Given the description of an element on the screen output the (x, y) to click on. 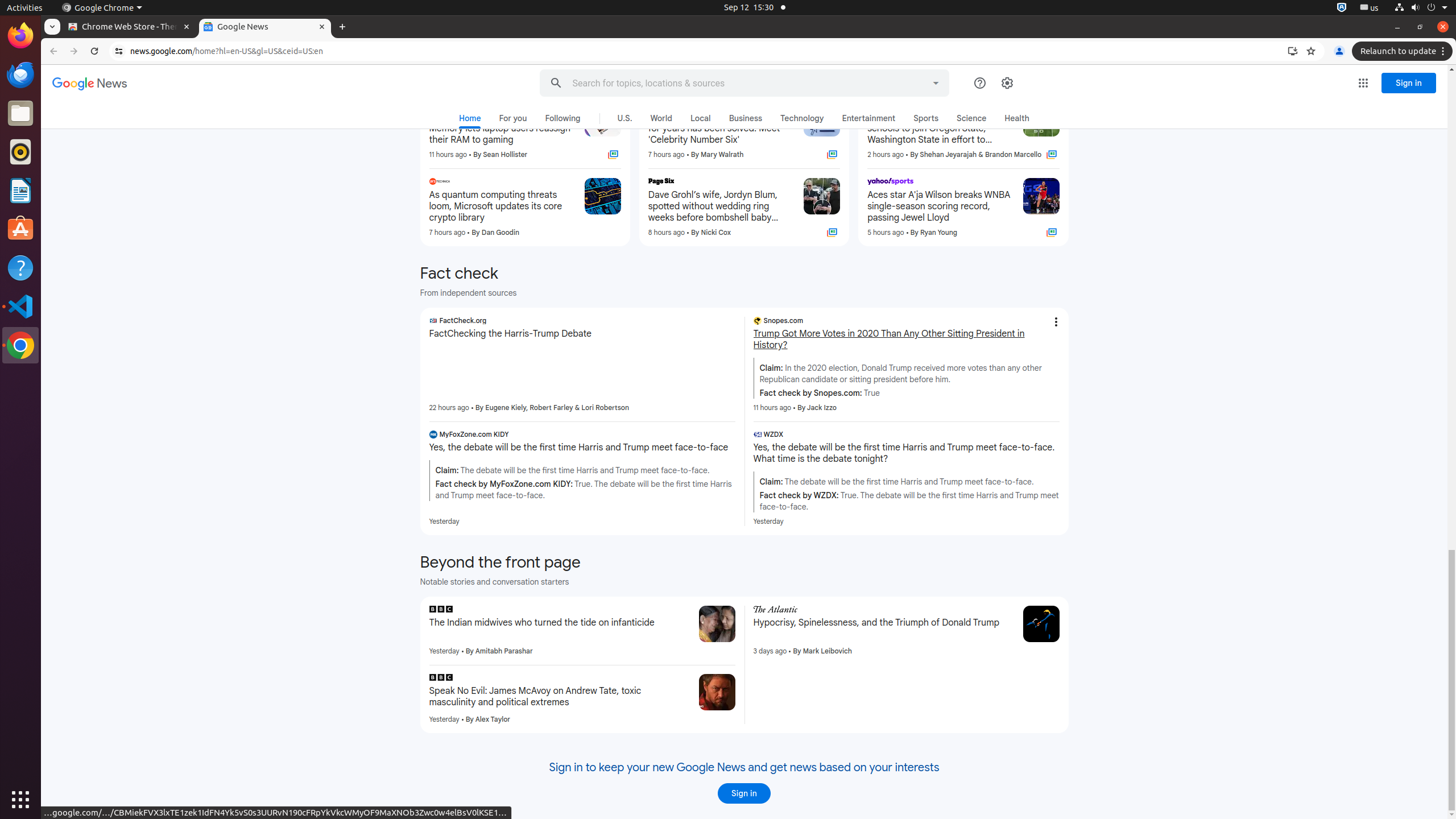
You Element type: push-button (1339, 50)
Ubuntu Software Element type: push-button (20, 229)
For you Element type: menu-item (512, 118)
Bills vs. Dolphins Prediction, Pick, Odds, How to Watch Thursday Night Football Week 2 Element type: link (963, 50)
Google apps Element type: push-button (1362, 82)
